Given the description of an element on the screen output the (x, y) to click on. 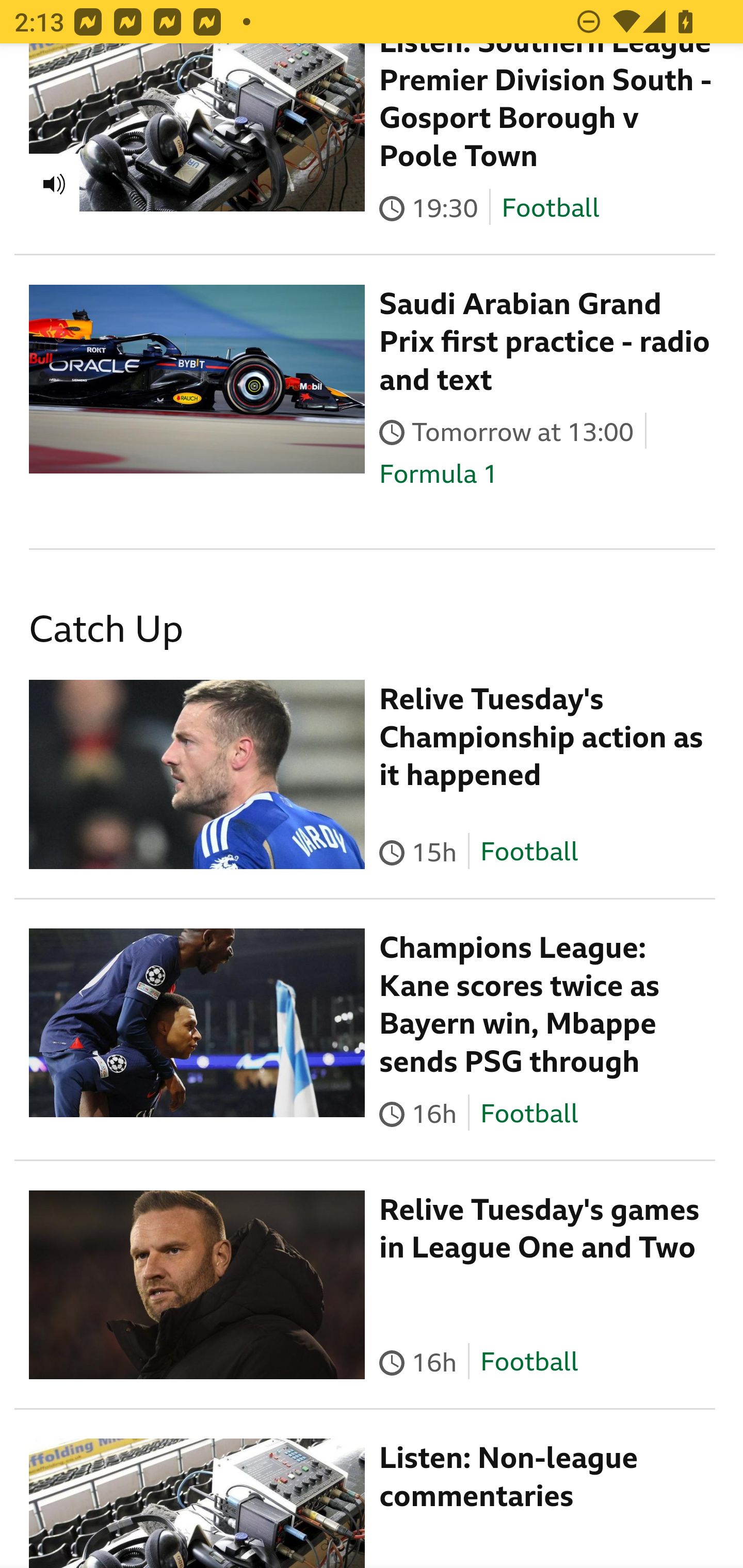
Football (550, 208)
Formula 1 (438, 473)
Football (528, 852)
Football (528, 1113)
Relive Tuesday's games in League One and Two (539, 1229)
Football (528, 1362)
Listen: Non-league commentaries (508, 1477)
